Given the description of an element on the screen output the (x, y) to click on. 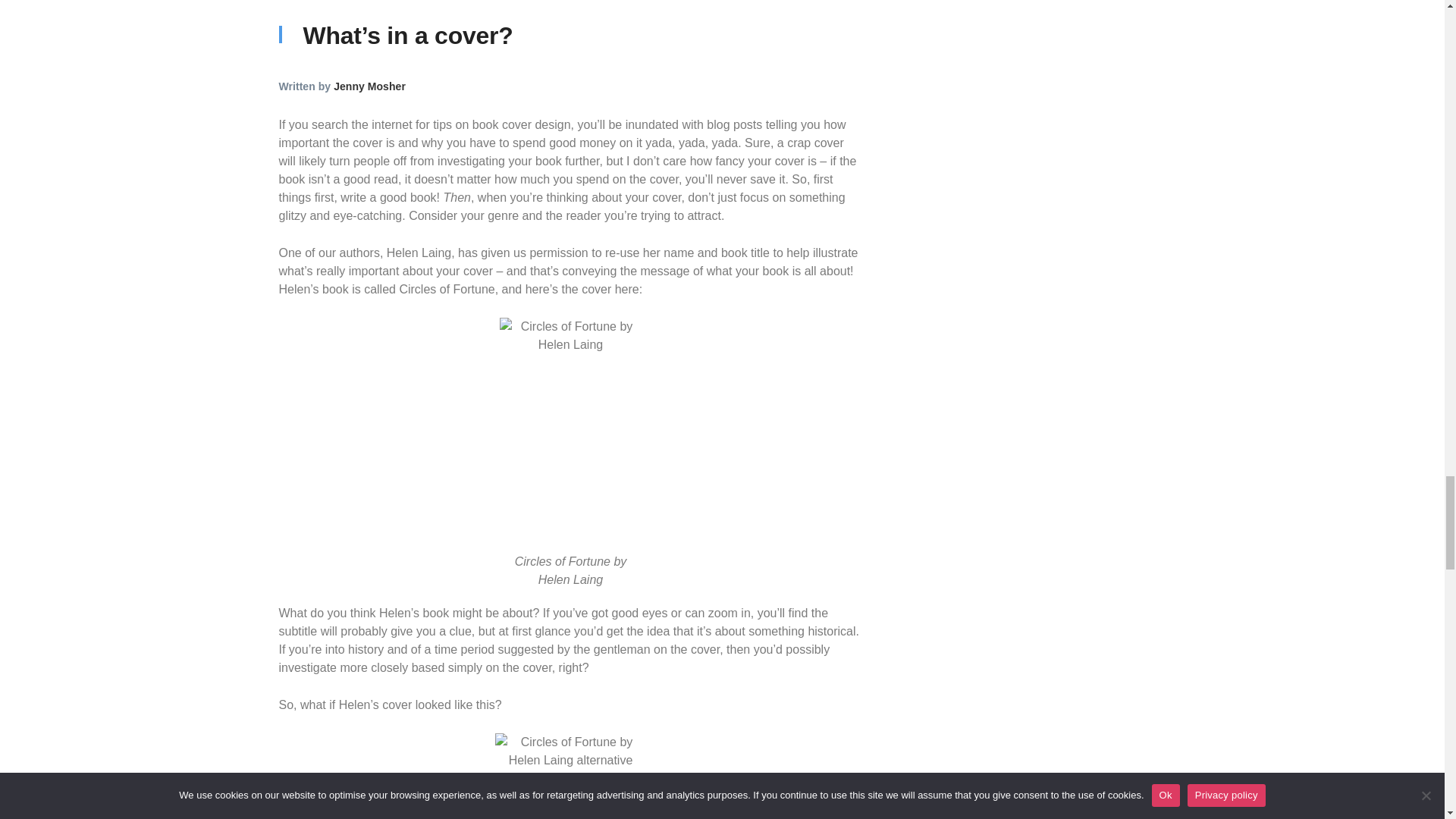
View all posts by Jenny Mosher (369, 86)
